Given the description of an element on the screen output the (x, y) to click on. 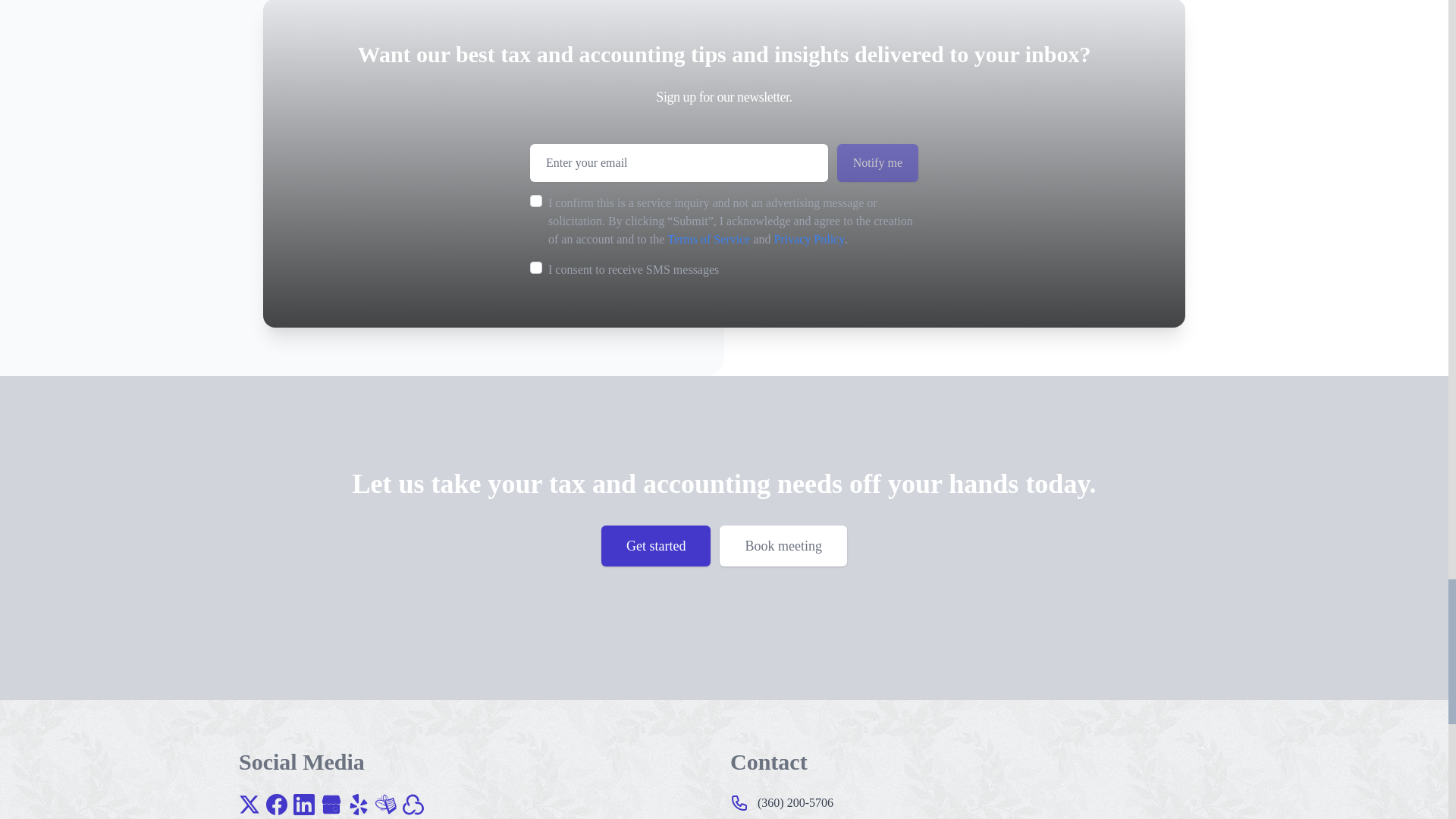
on (535, 267)
on (535, 200)
